Given the description of an element on the screen output the (x, y) to click on. 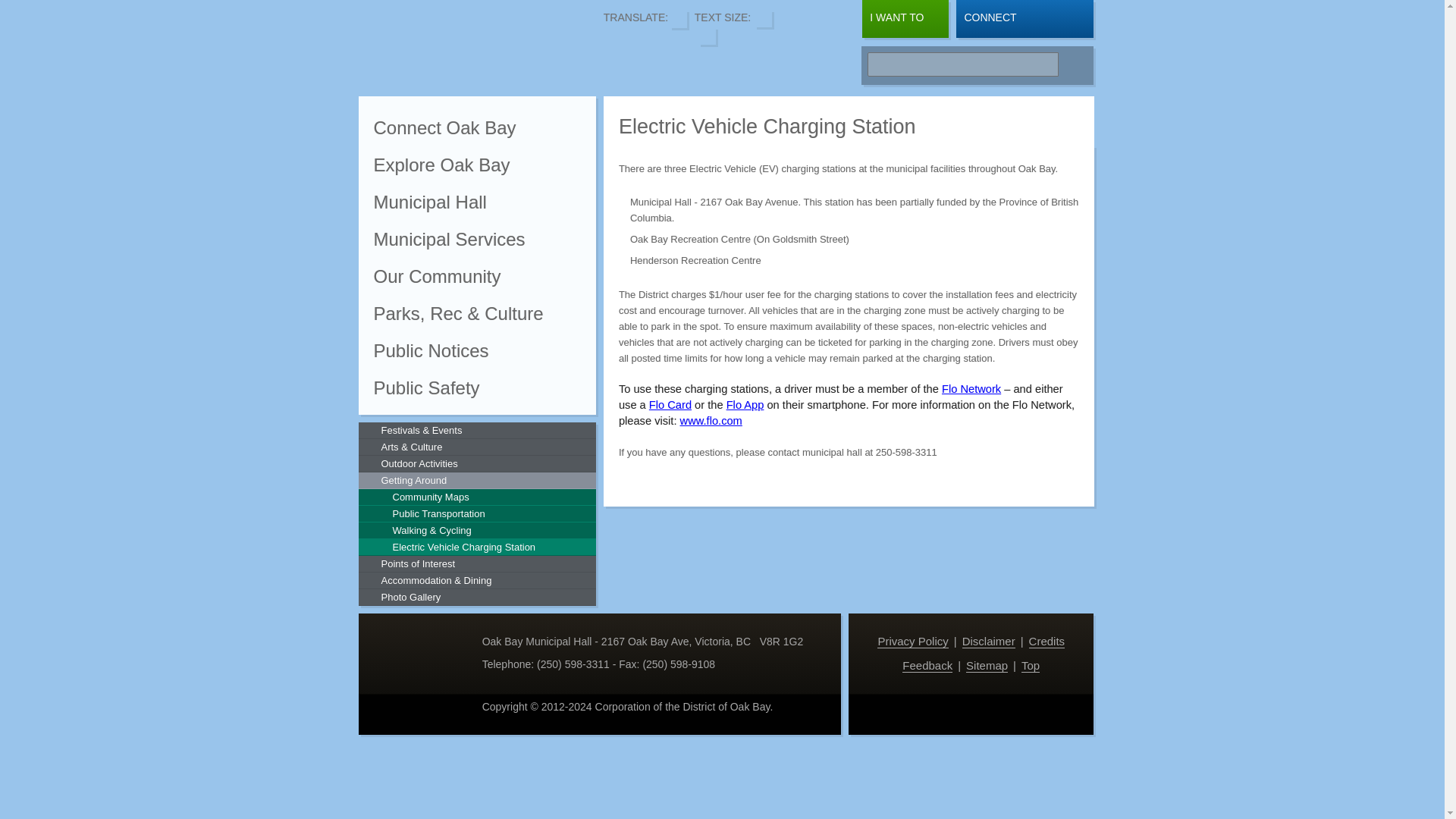
The District of Oak Bay (473, 45)
Enter the terms you wish to search for. (962, 64)
Search (1072, 65)
